Given the description of an element on the screen output the (x, y) to click on. 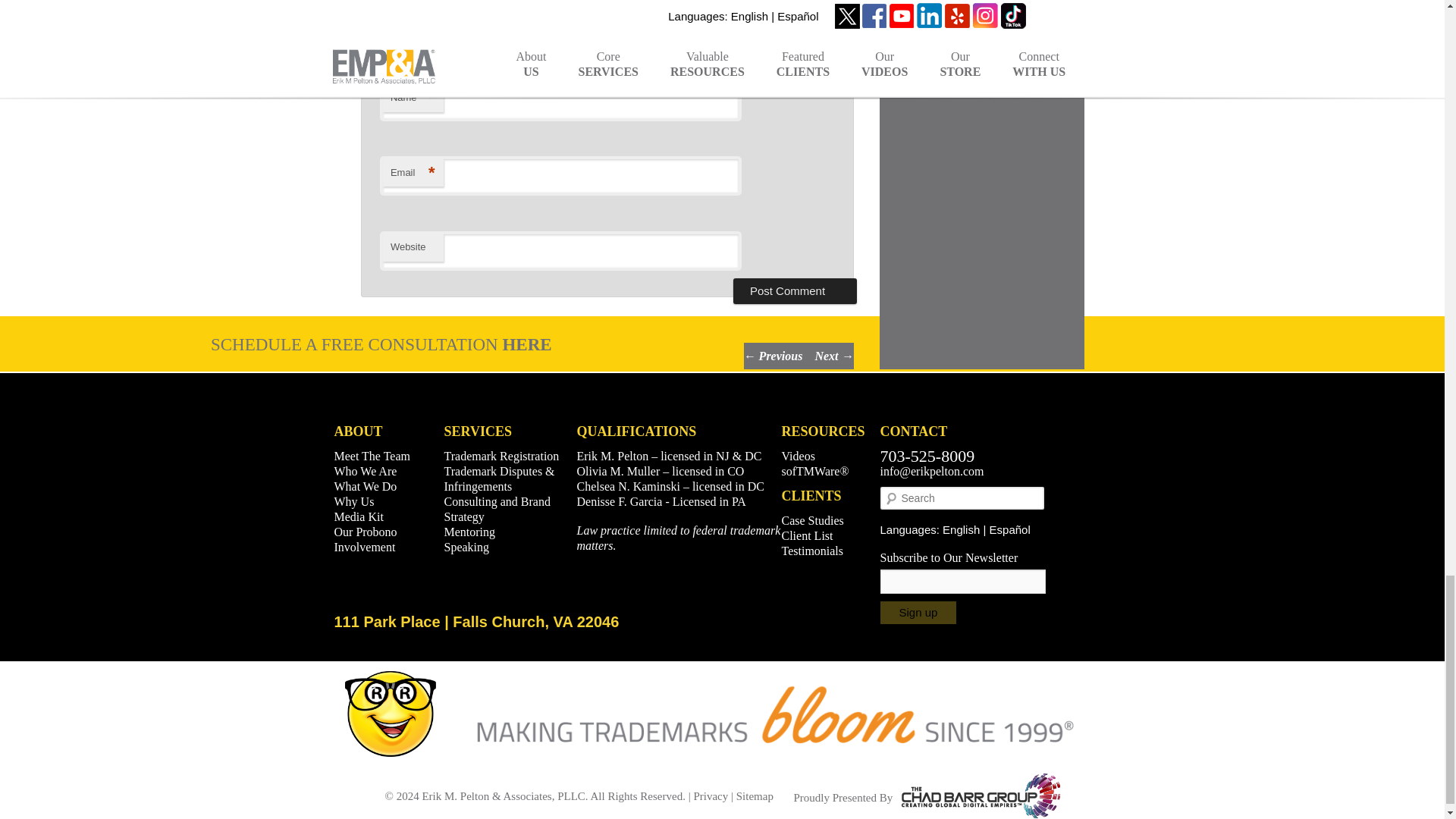
Post Comment (795, 290)
Sign up (917, 612)
